Given the description of an element on the screen output the (x, y) to click on. 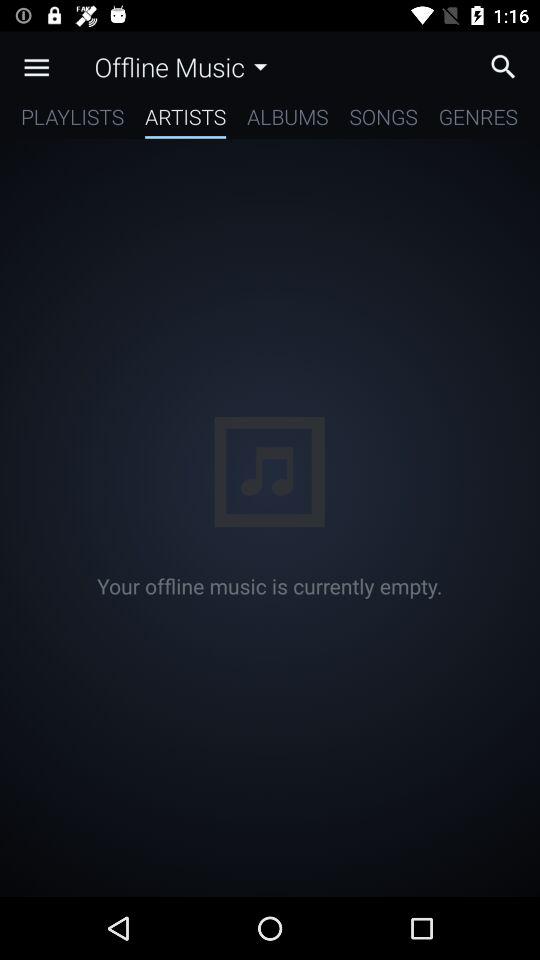
open the app to the right of the albums icon (383, 120)
